Given the description of an element on the screen output the (x, y) to click on. 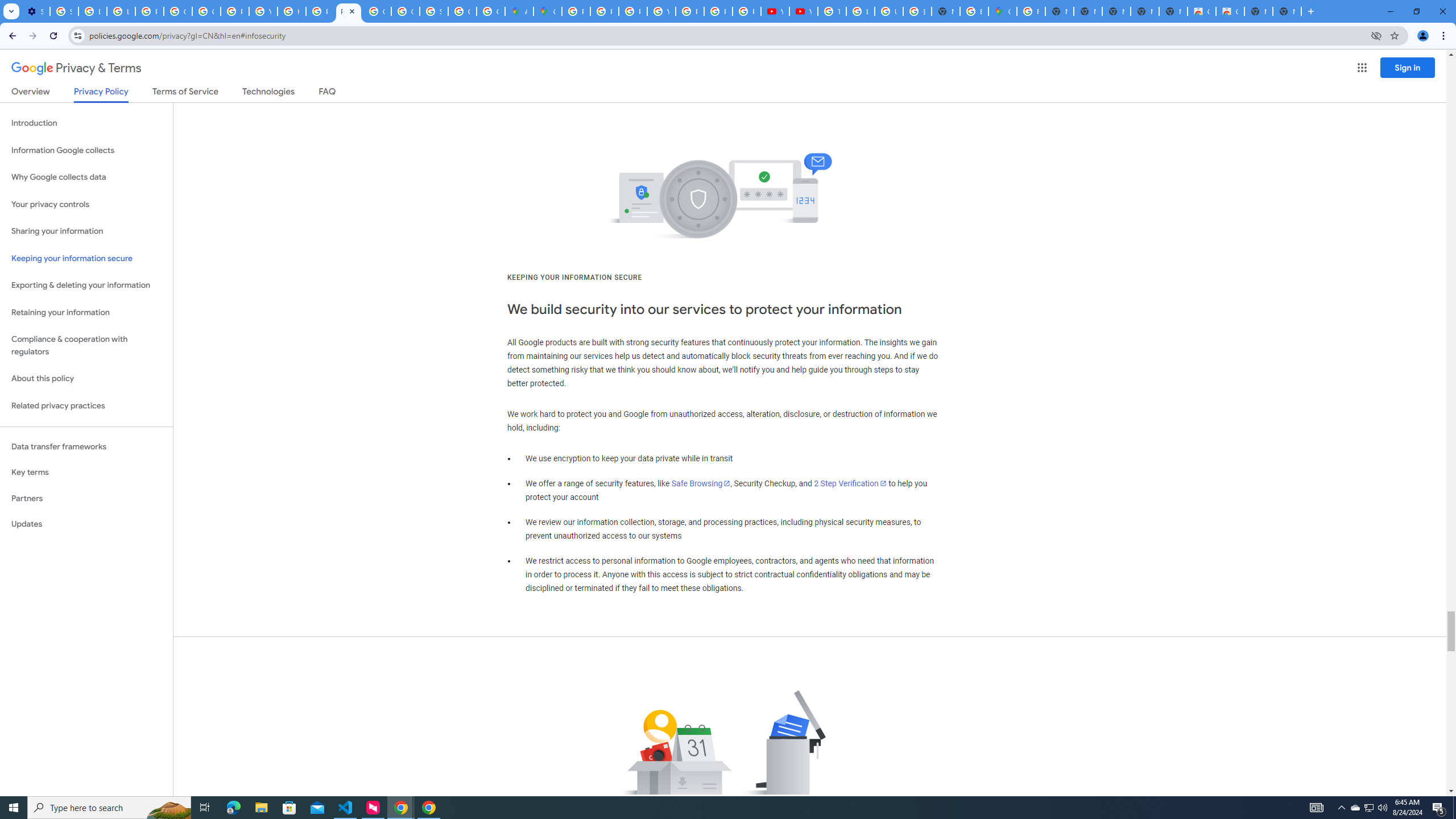
Keeping your information secure (86, 258)
Technologies (268, 93)
Google Maps (1002, 11)
Learn how to find your photos - Google Photos Help (120, 11)
Settings - On startup (35, 11)
Privacy & Terms (76, 68)
Key terms (86, 472)
Terms of Service (184, 93)
Policy Accountability and Transparency - Transparency Center (575, 11)
New Tab (945, 11)
Google Account Help (178, 11)
